Given the description of an element on the screen output the (x, y) to click on. 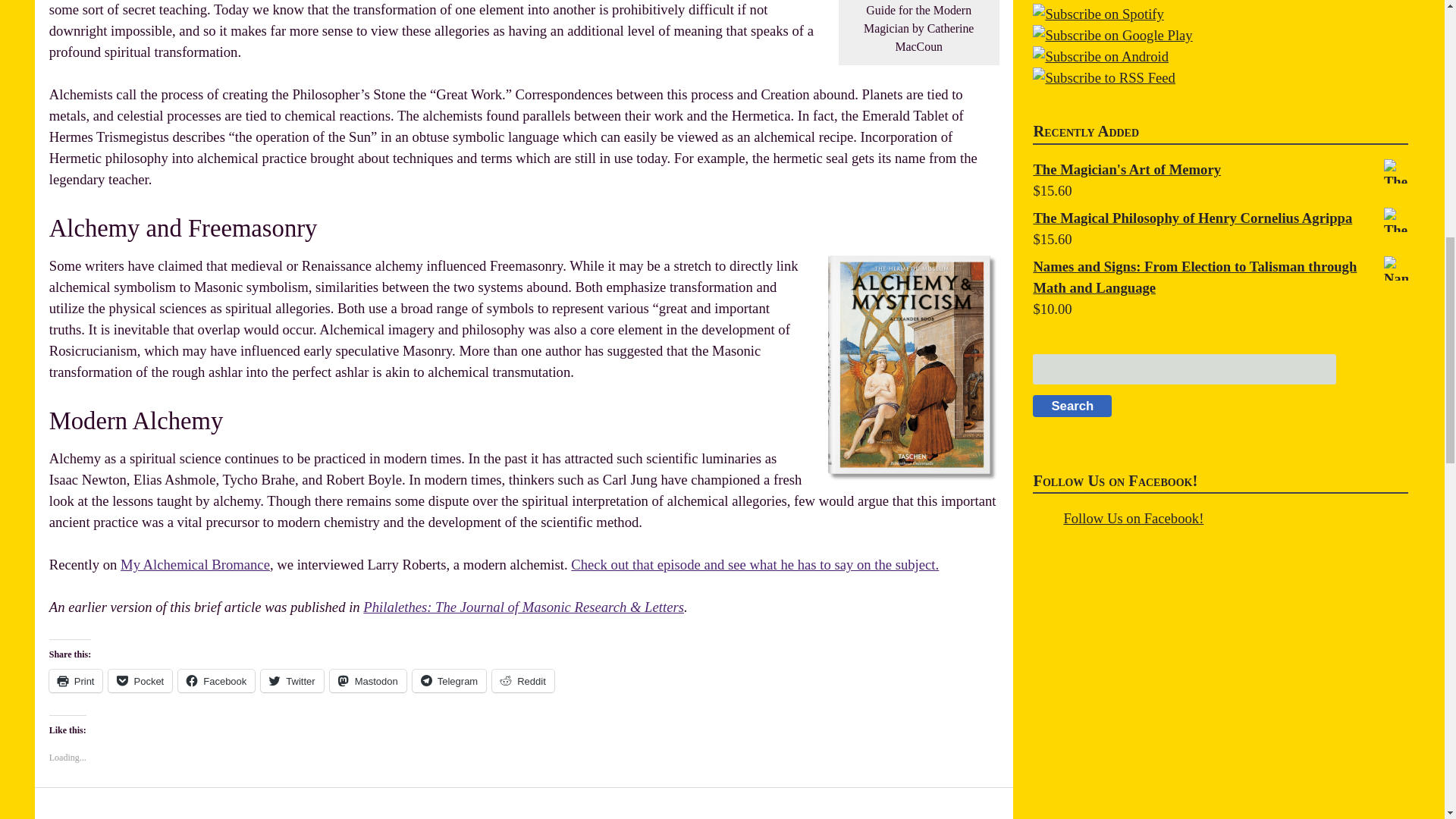
Click to print (76, 680)
Click to share on Telegram (449, 680)
Click to share on Twitter (291, 680)
Click to share on Reddit (523, 680)
Click to share on Pocket (139, 680)
Click to share on Mastodon (368, 680)
My Alchemical Bromance (194, 564)
Click to share on Facebook (215, 680)
